Given the description of an element on the screen output the (x, y) to click on. 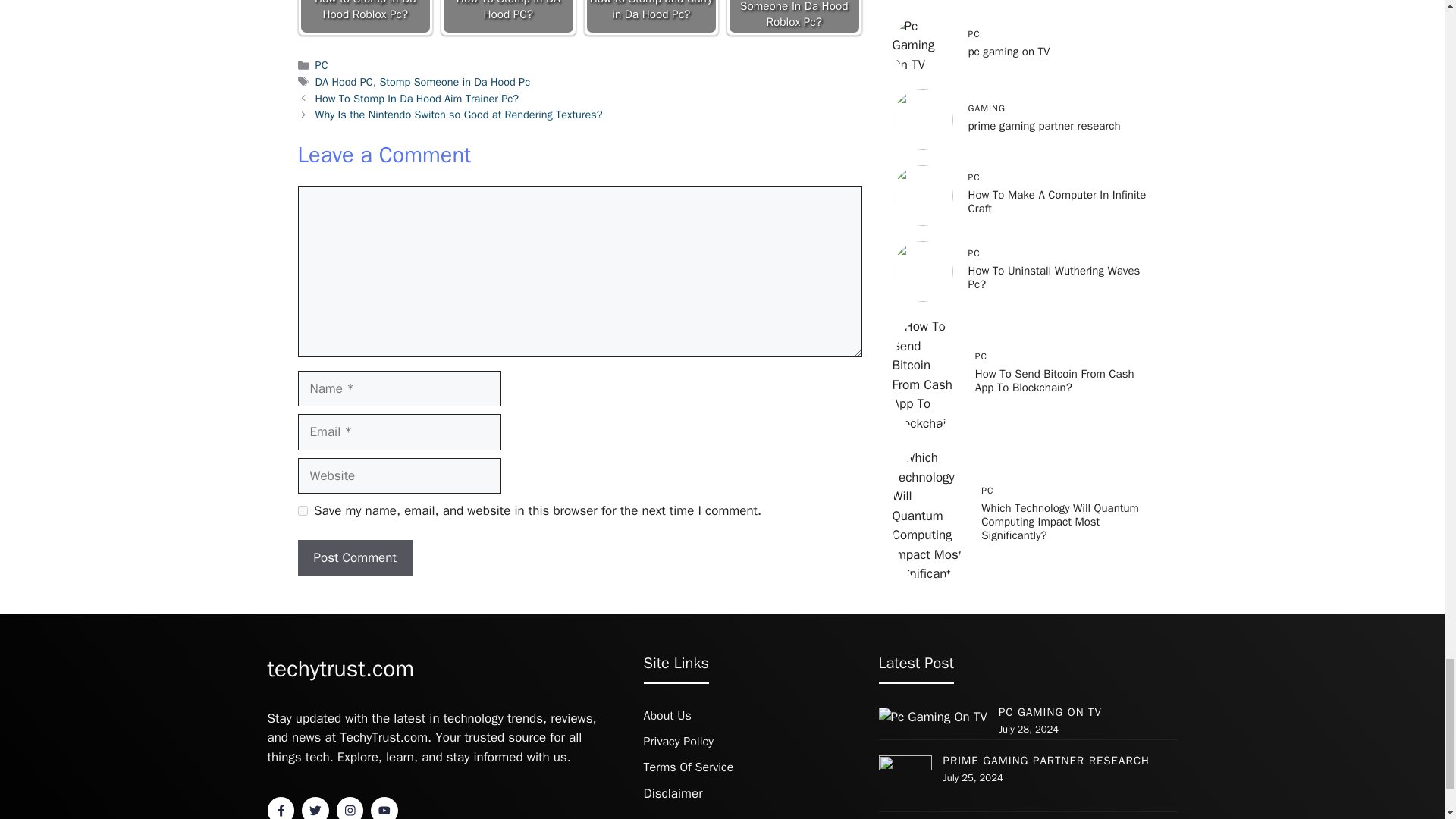
PC (322, 65)
yes (302, 510)
Post Comment (354, 557)
Stomp Someone in Da Hood Pc (453, 81)
DA Hood PC (343, 81)
How To Stomp Someone In Da Hood Roblox Pc? (793, 17)
How to Stomp in Da Hood Roblox Pc? (365, 17)
How To Stomp In DA Hood PC? (508, 17)
How to Stomp and Carry in Da Hood Pc? (650, 17)
